Given the description of an element on the screen output the (x, y) to click on. 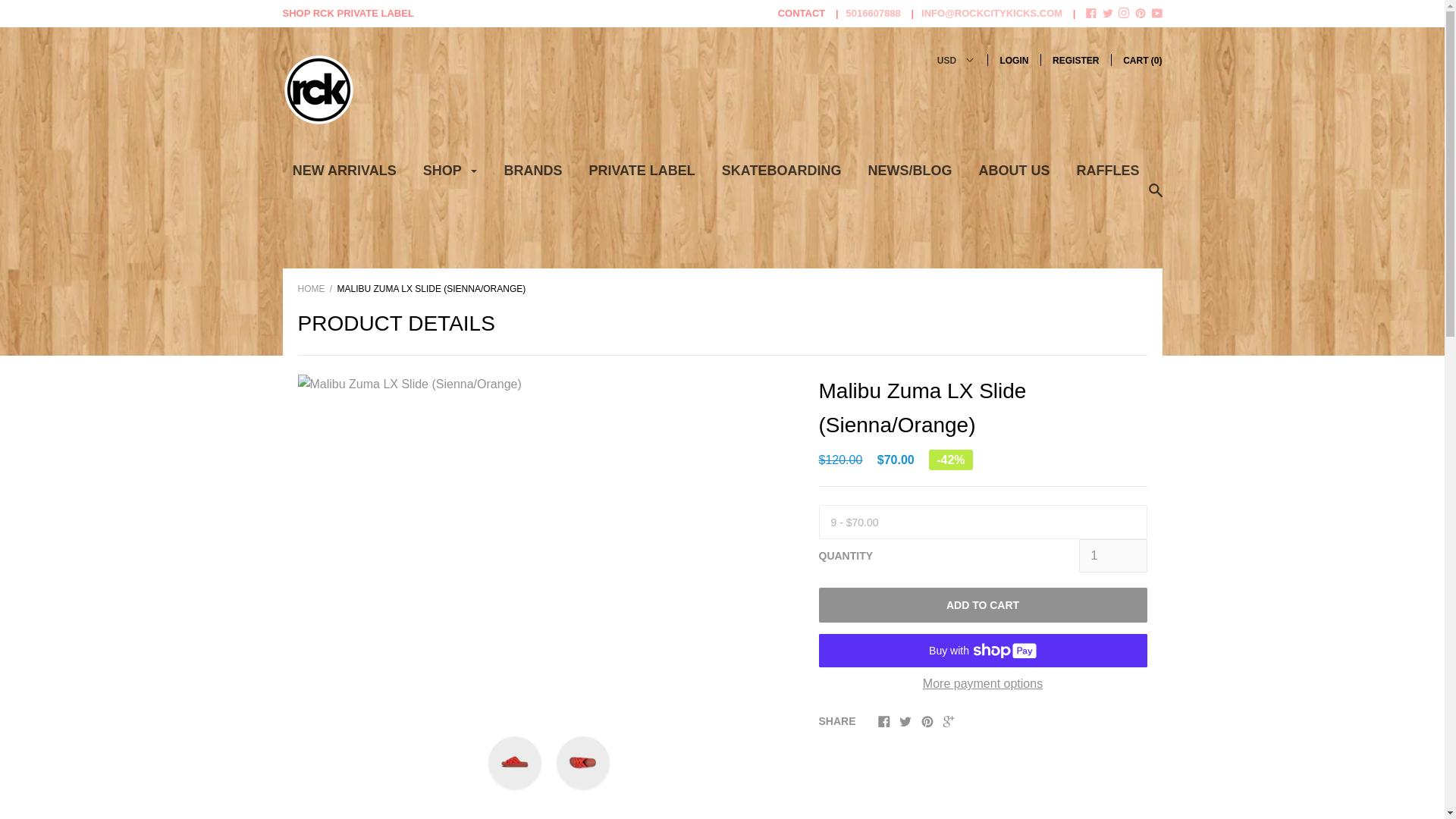
Twitter (1107, 14)
REGISTER (1075, 60)
Facebook (883, 720)
Pinterest (1140, 14)
LOGIN (1012, 60)
SHOP RCK PRIVATE LABEL (347, 12)
Twitter (905, 720)
Facebook (1091, 14)
YouTube (1156, 12)
1 (1112, 555)
NEW ARRIVALS (344, 175)
Twitter (1107, 12)
Instagram (1123, 12)
YouTube (1156, 14)
Pinterest (1140, 12)
